Given the description of an element on the screen output the (x, y) to click on. 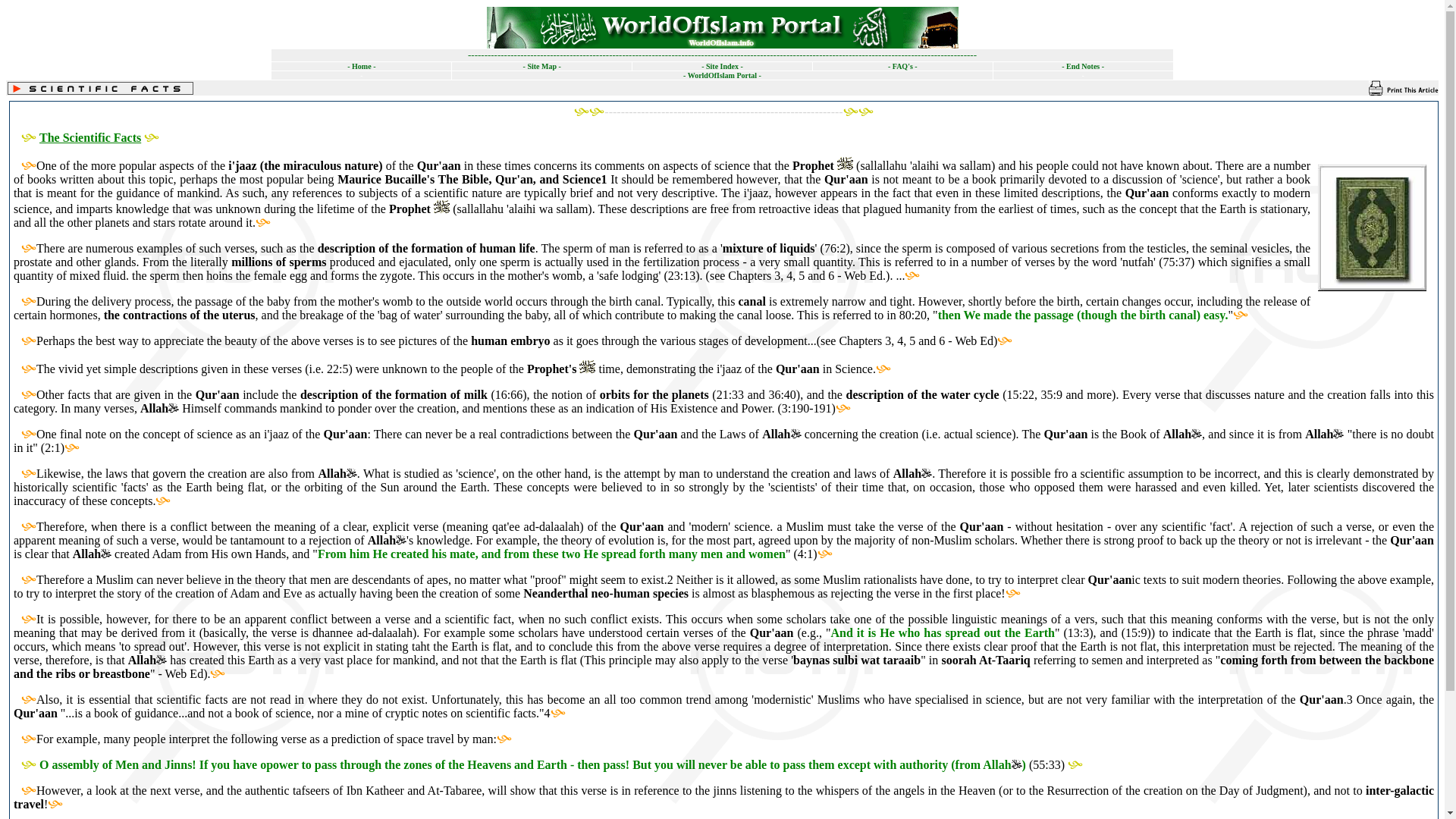
 S i t e   I n d e x  (722, 66)
End Notes (1082, 64)
Home (361, 66)
 F A Q ' s  (902, 64)
FAQ's (902, 64)
 H o m e  (361, 66)
WorldOfIslam Portal (722, 75)
 S I T E M A P  (541, 66)
Site Map (541, 66)
Site Index (722, 66)
